Given the description of an element on the screen output the (x, y) to click on. 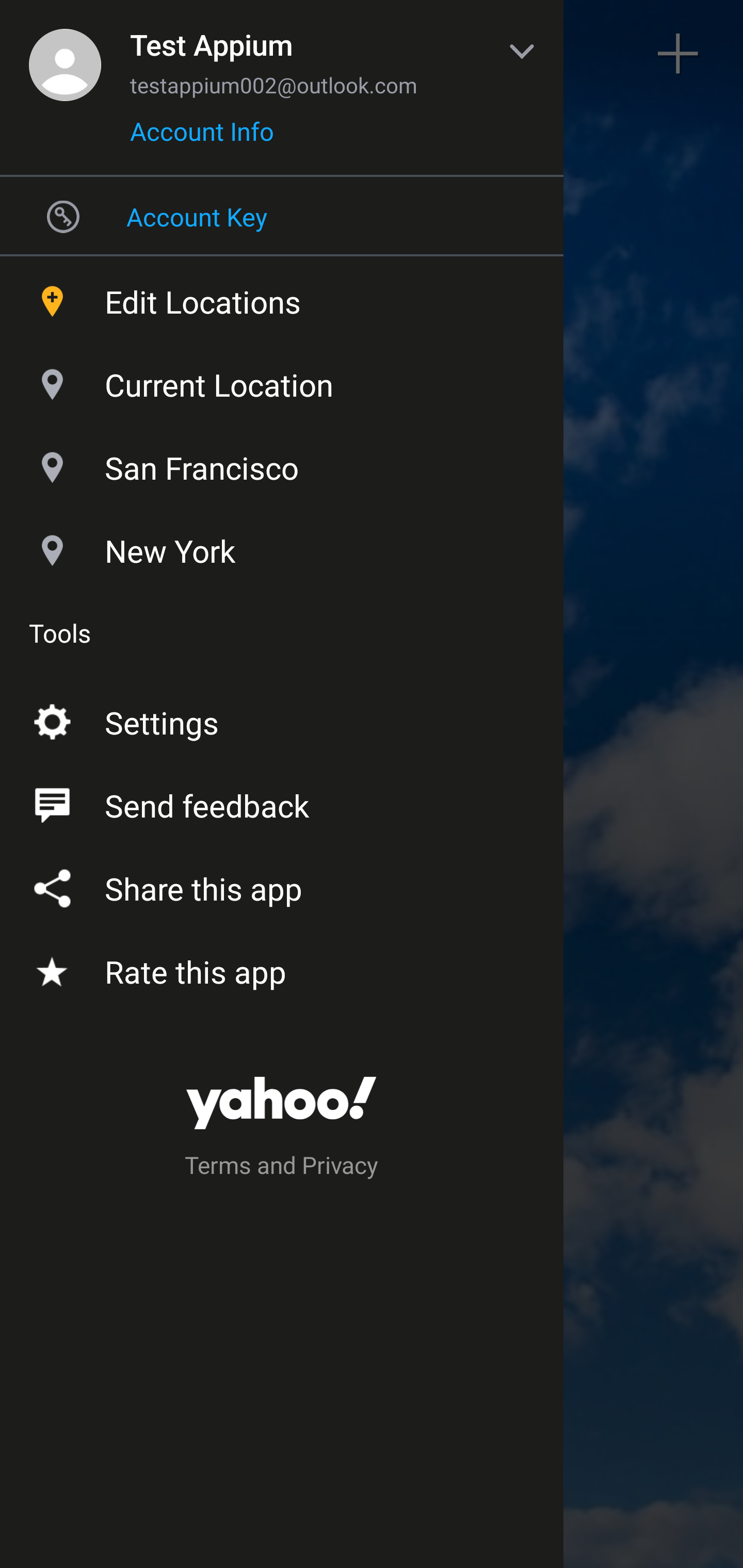
Sidebar (64, 54)
Account Info (202, 137)
Account Key (281, 216)
Edit Locations (281, 296)
Current Location (281, 379)
San Francisco (281, 462)
New York (281, 546)
Settings (281, 718)
Send feedback (281, 801)
Share this app (281, 884)
Terms and Privacy Terms and privacy button (281, 1168)
